Given the description of an element on the screen output the (x, y) to click on. 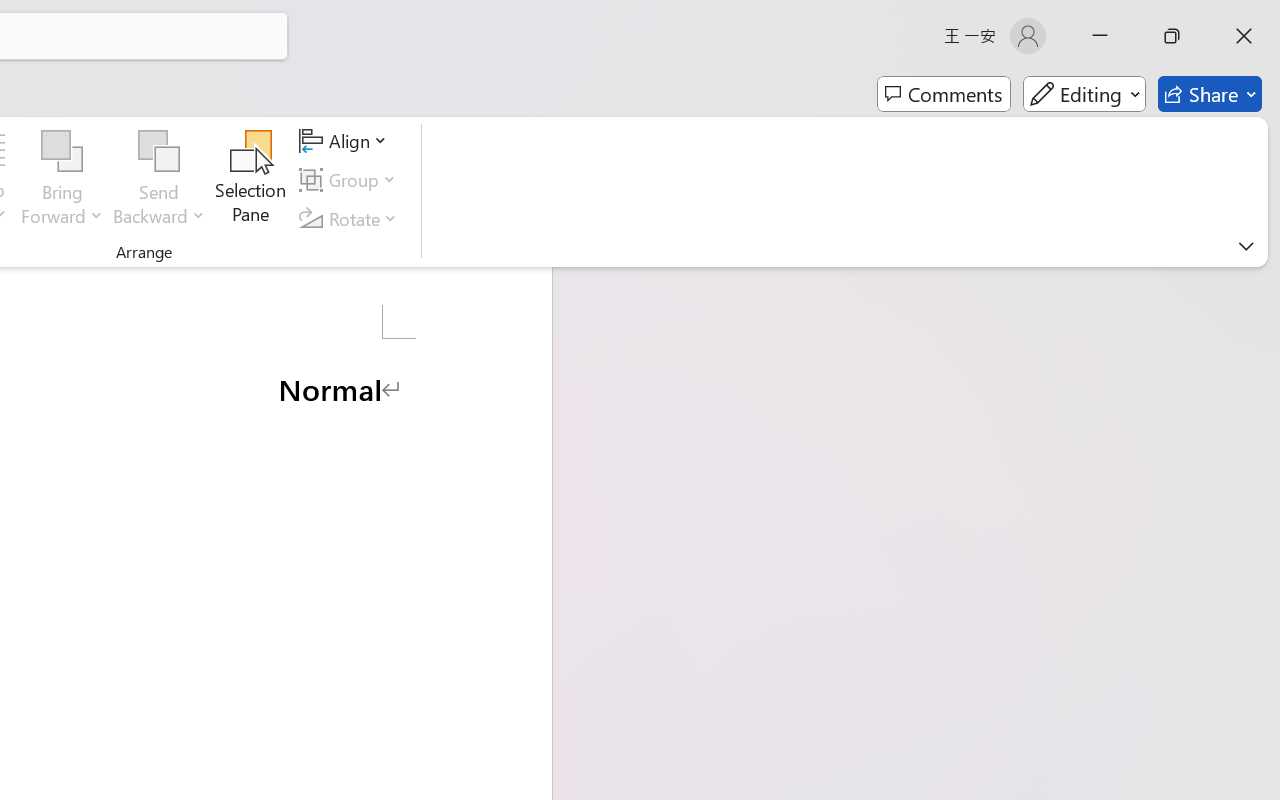
Send Backward (159, 179)
Selection Pane... (251, 179)
Rotate (351, 218)
Bring Forward (62, 151)
Send Backward (159, 151)
Bring Forward (62, 179)
Group (351, 179)
Align (346, 141)
